Given the description of an element on the screen output the (x, y) to click on. 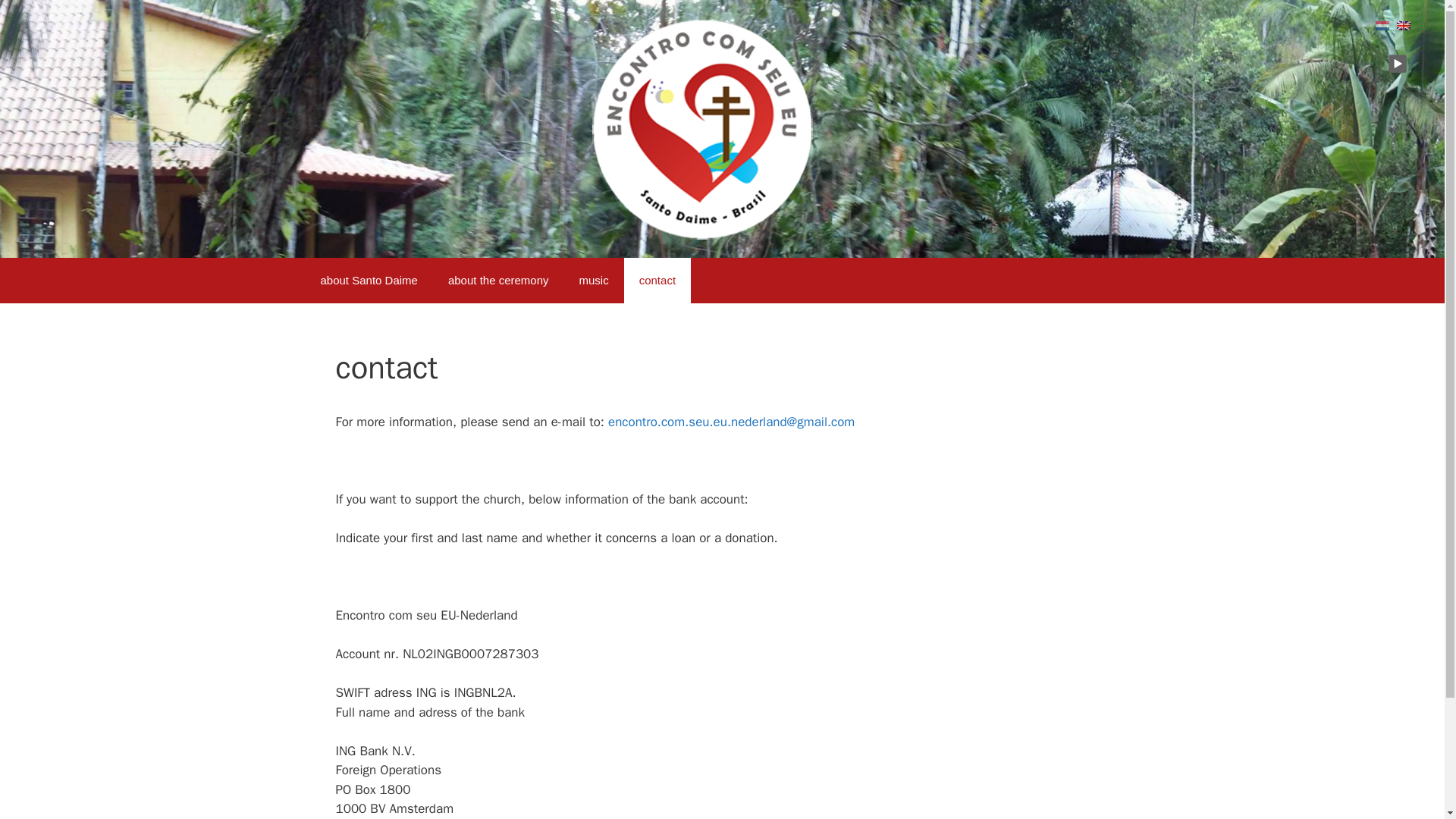
about the ceremony (498, 280)
about Santo Daime (368, 280)
music (594, 280)
contact (657, 280)
